Given the description of an element on the screen output the (x, y) to click on. 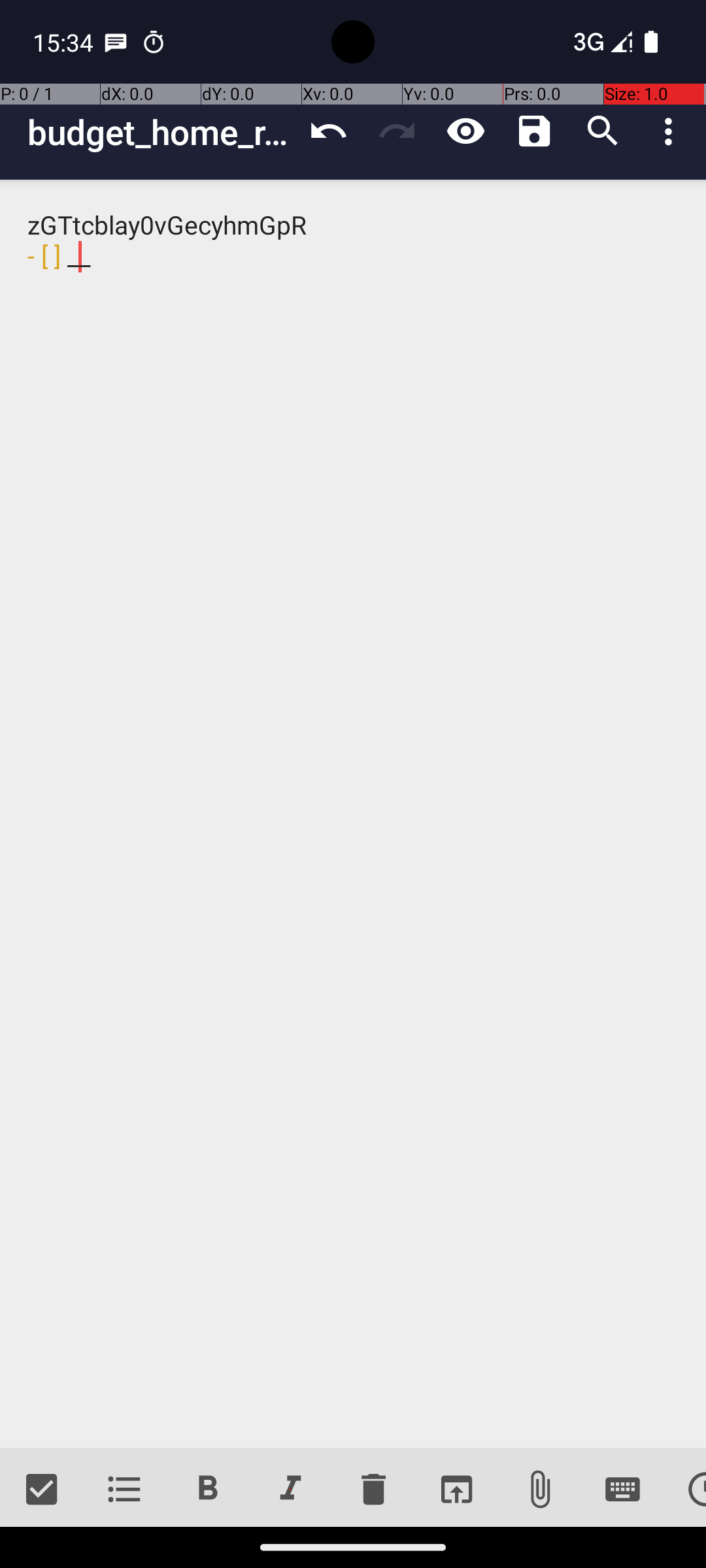
budget_home_renovation_2023_08_10 Element type: android.widget.TextView (160, 131)
zGTtcblay0vGecyhmGpR
- [ ] __ Element type: android.widget.EditText (353, 813)
